Given the description of an element on the screen output the (x, y) to click on. 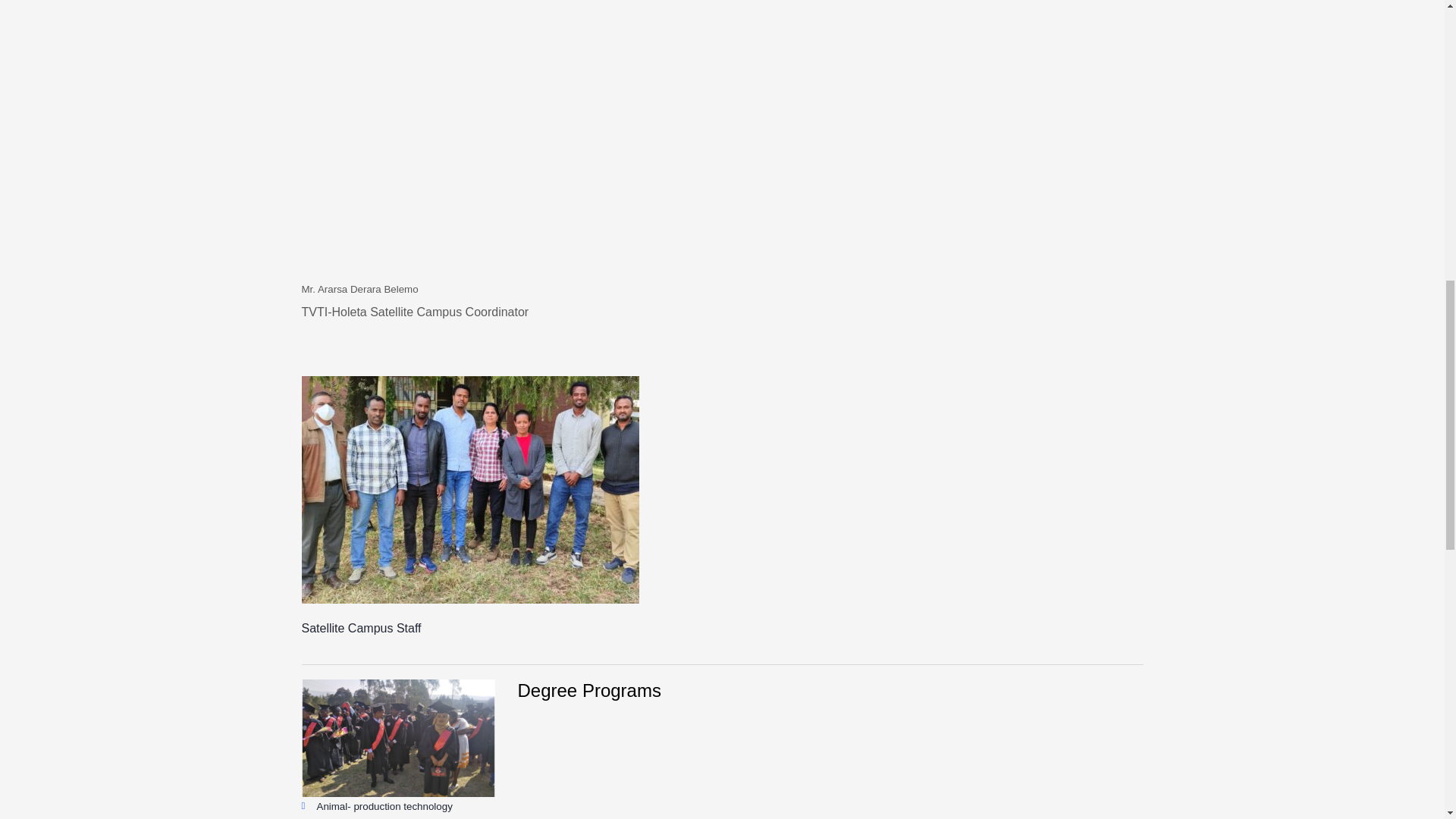
ArarsaDeraraBelemo (430, 138)
Satellite Campus Staff (470, 489)
